Given the description of an element on the screen output the (x, y) to click on. 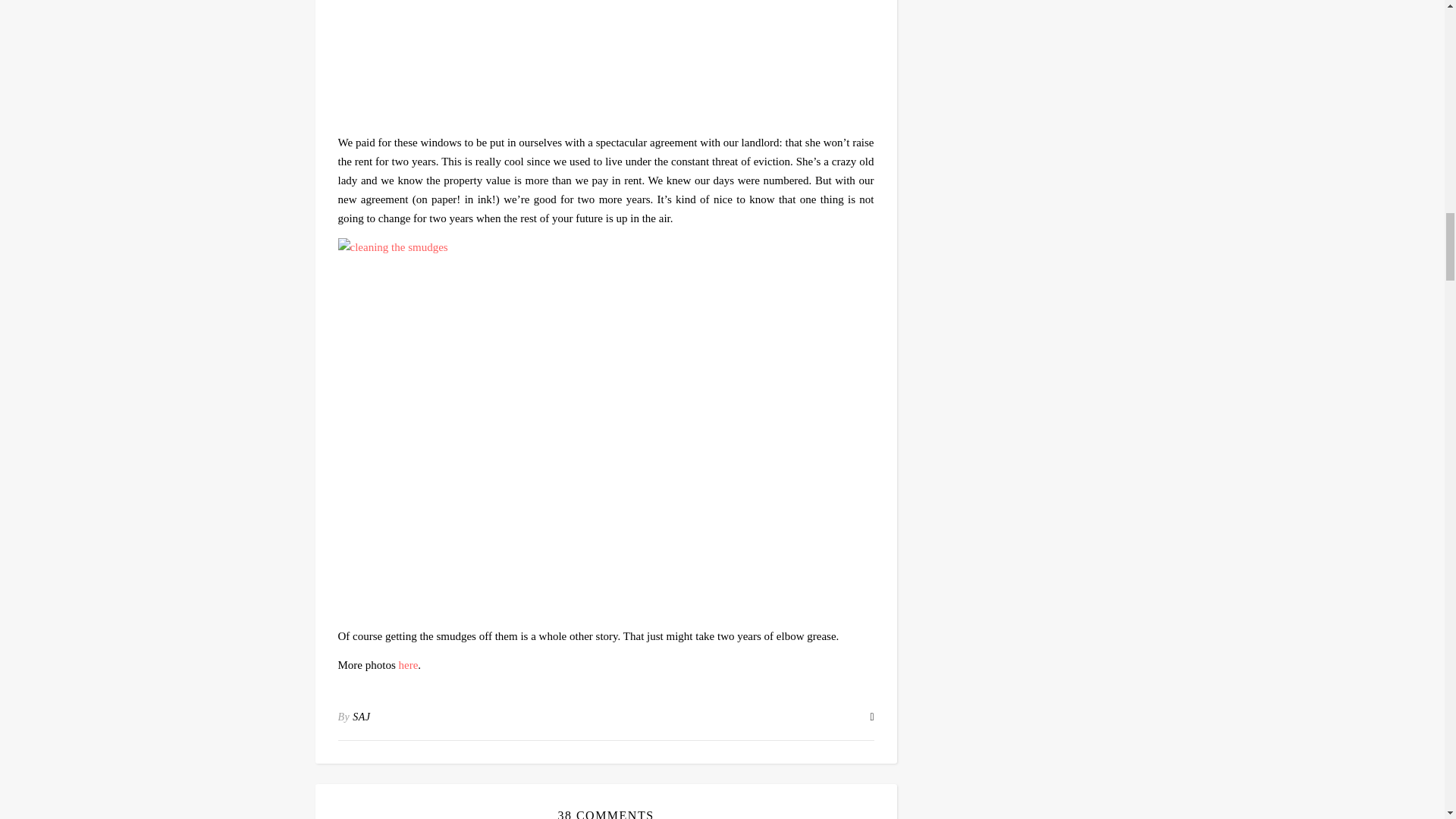
looking west by secret agent josephine, on Flickr (606, 61)
here (408, 664)
